Given the description of an element on the screen output the (x, y) to click on. 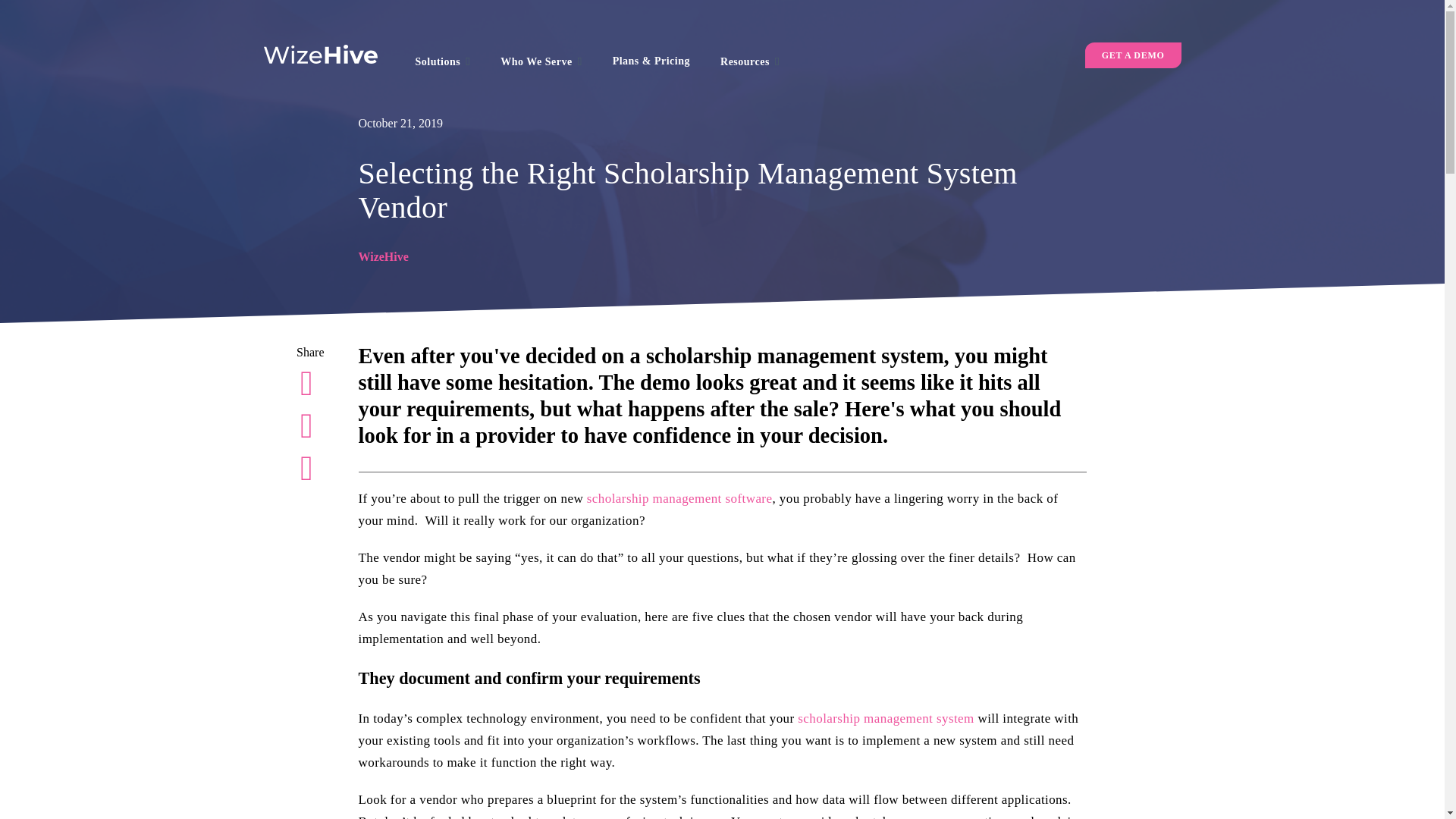
Who We Serve (540, 61)
Resources (749, 61)
Get a demo (1132, 54)
GET A DEMO (1132, 54)
Solutions (442, 61)
